Given the description of an element on the screen output the (x, y) to click on. 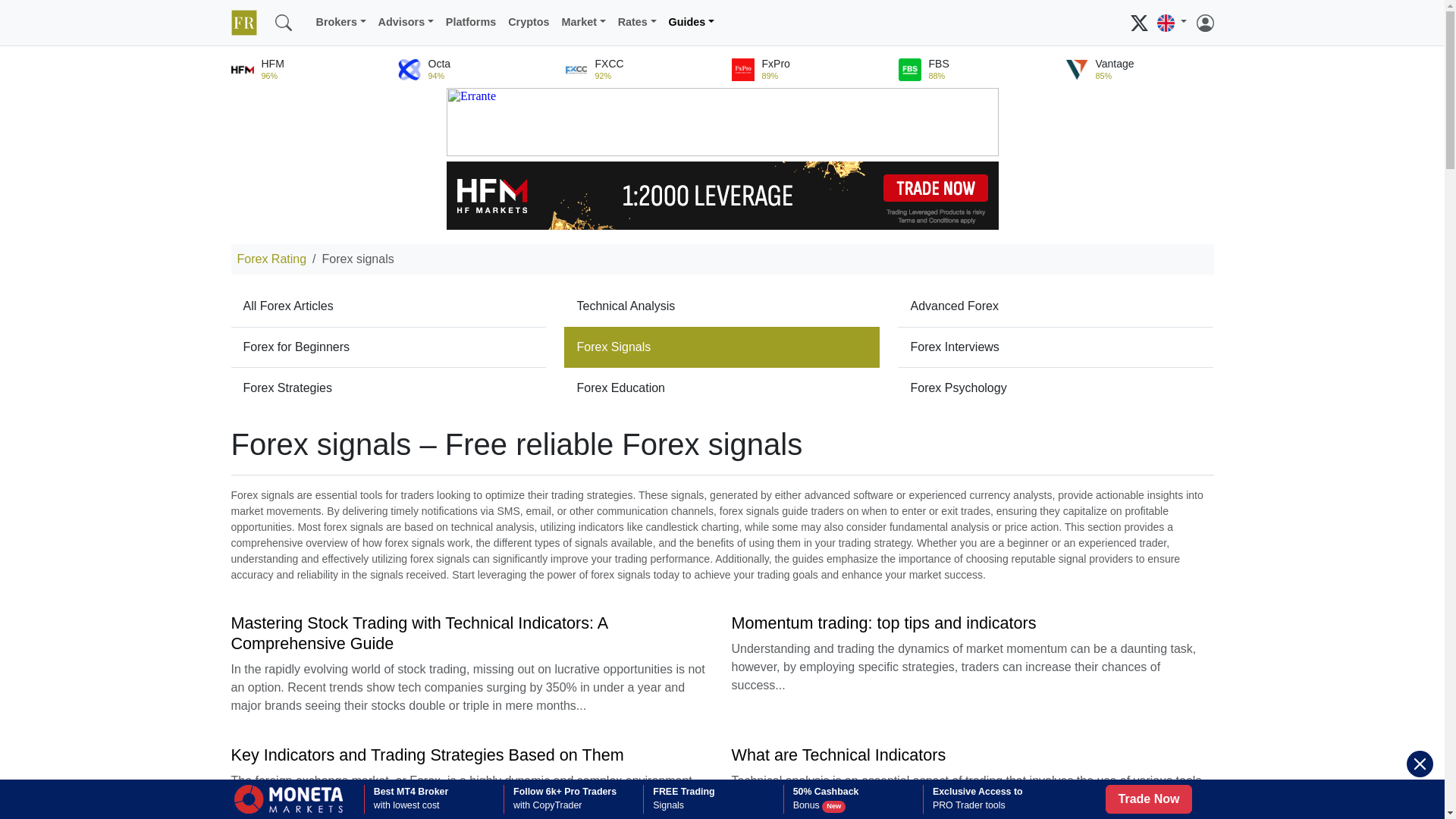
Search (302, 14)
Cryptos (528, 22)
Platforms (470, 22)
Search (282, 22)
